Given the description of an element on the screen output the (x, y) to click on. 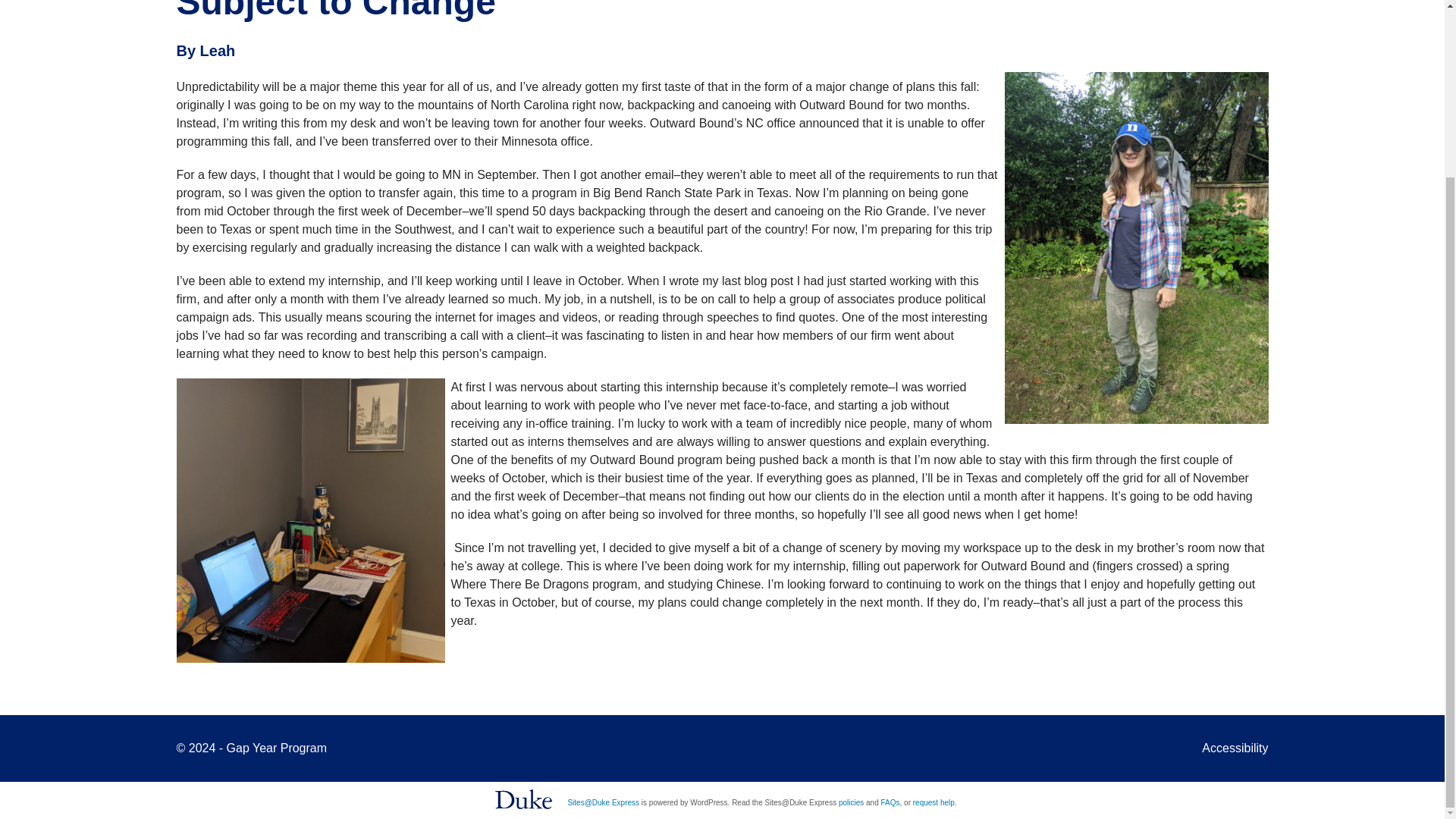
policies (850, 802)
Visit Duke.edu (523, 799)
FAQs (889, 802)
Subject to Change (335, 11)
Accessibility (1235, 748)
request help (933, 802)
